Given the description of an element on the screen output the (x, y) to click on. 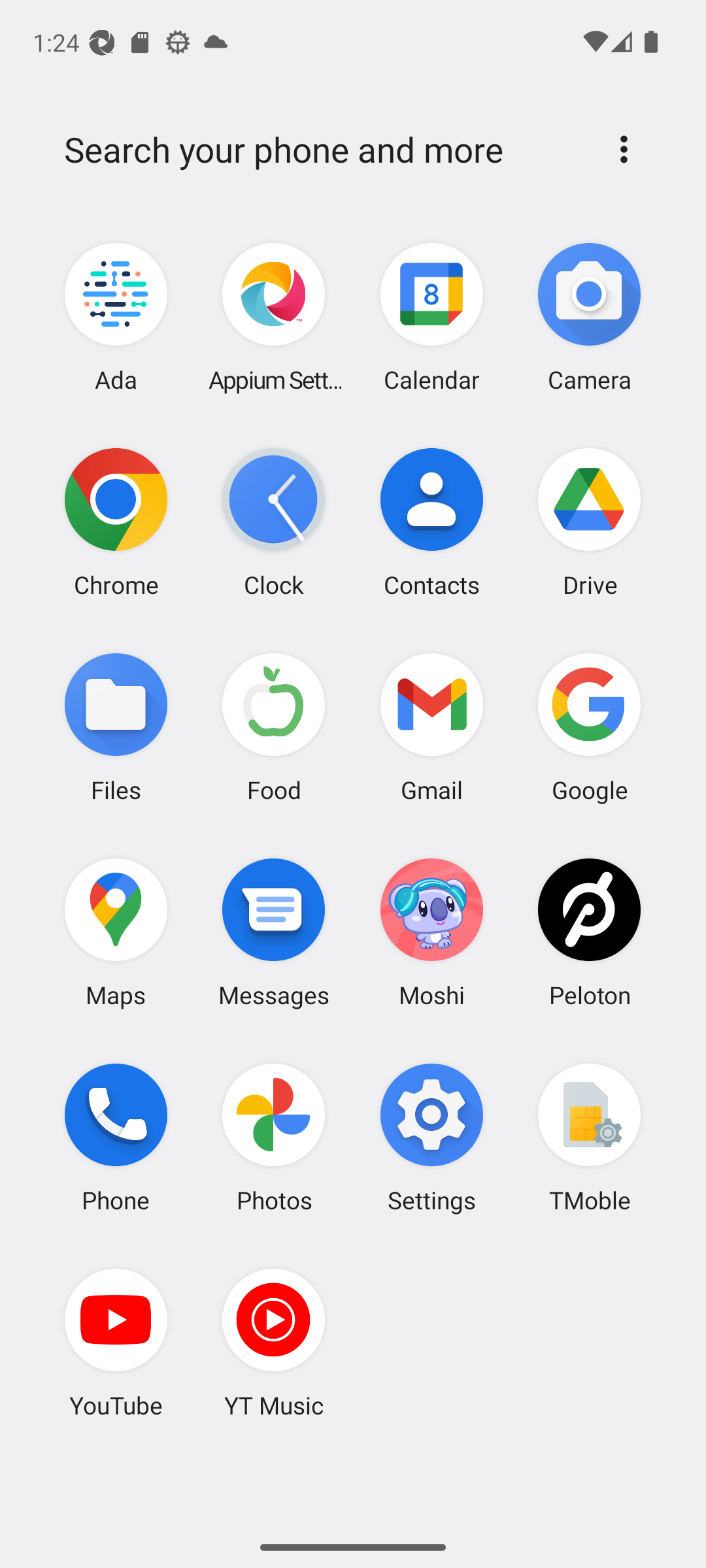
Search your phone and more (321, 149)
Preferences (623, 149)
Ada (115, 317)
Appium Settings (273, 317)
Calendar (431, 317)
Camera (589, 317)
Chrome (115, 522)
Clock (273, 522)
Contacts (431, 522)
Drive (589, 522)
Files (115, 726)
Food (273, 726)
Gmail (431, 726)
Google (589, 726)
Maps (115, 931)
Messages (273, 931)
Moshi (431, 931)
Peloton (589, 931)
Phone (115, 1137)
Photos (273, 1137)
Settings (431, 1137)
TMoble (589, 1137)
YouTube (115, 1342)
YT Music (273, 1342)
